Given the description of an element on the screen output the (x, y) to click on. 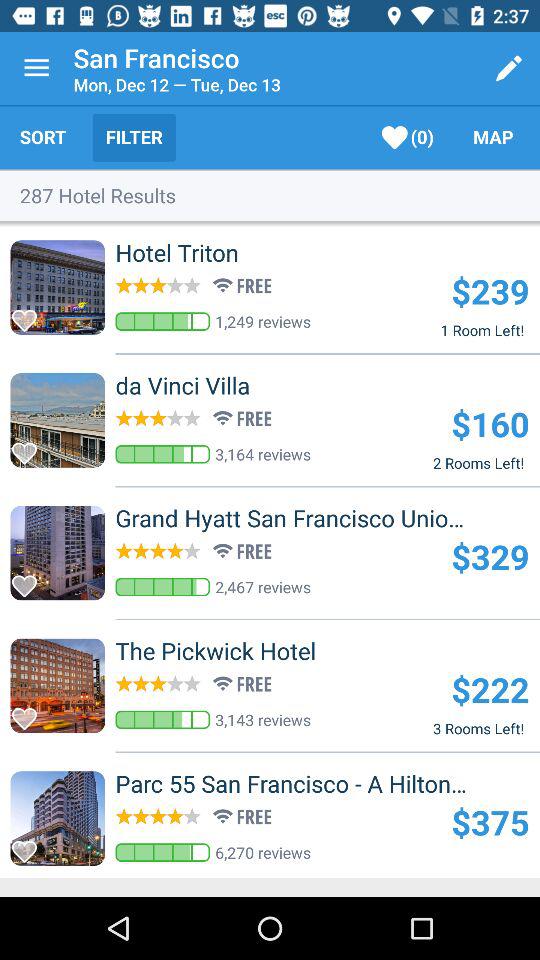
favorite the content (30, 845)
